Given the description of an element on the screen output the (x, y) to click on. 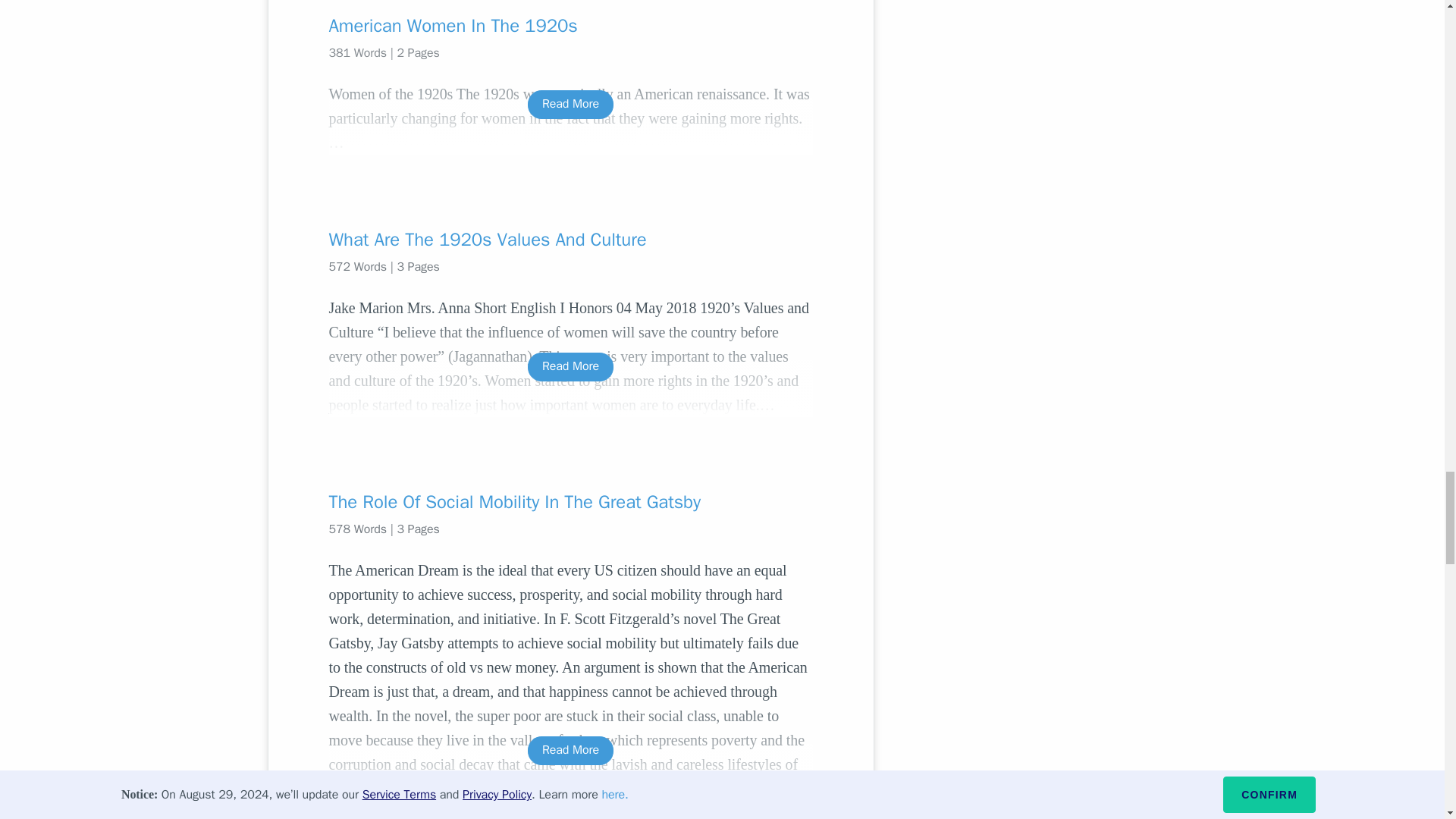
Read More (569, 103)
The Role Of Social Mobility In The Great Gatsby (570, 501)
What Are The 1920s Values And Culture (570, 239)
American Women In The 1920s (570, 25)
Read More (569, 366)
